Given the description of an element on the screen output the (x, y) to click on. 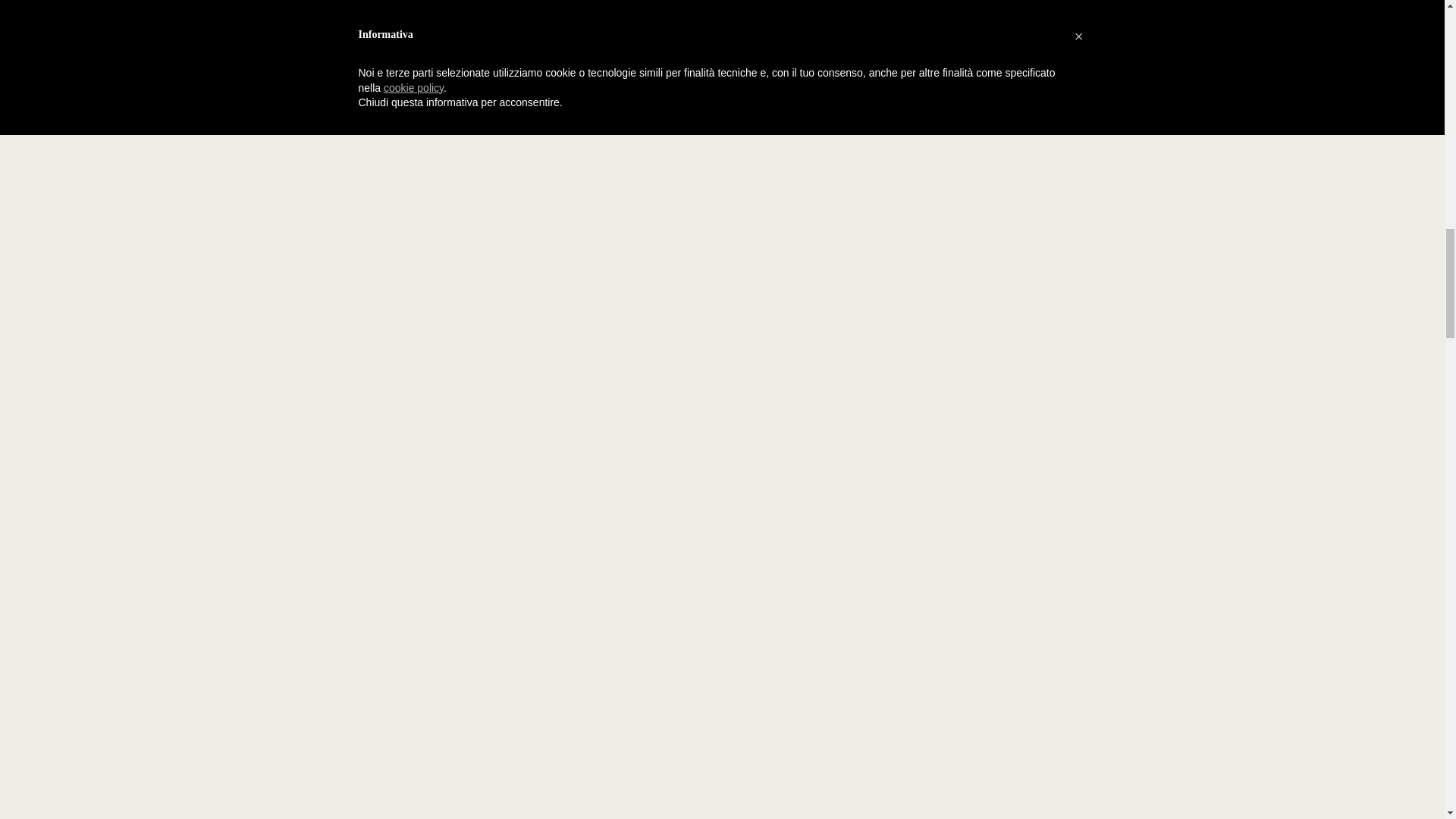
CHECK AVAILABILITY (1155, 520)
